Given the description of an element on the screen output the (x, y) to click on. 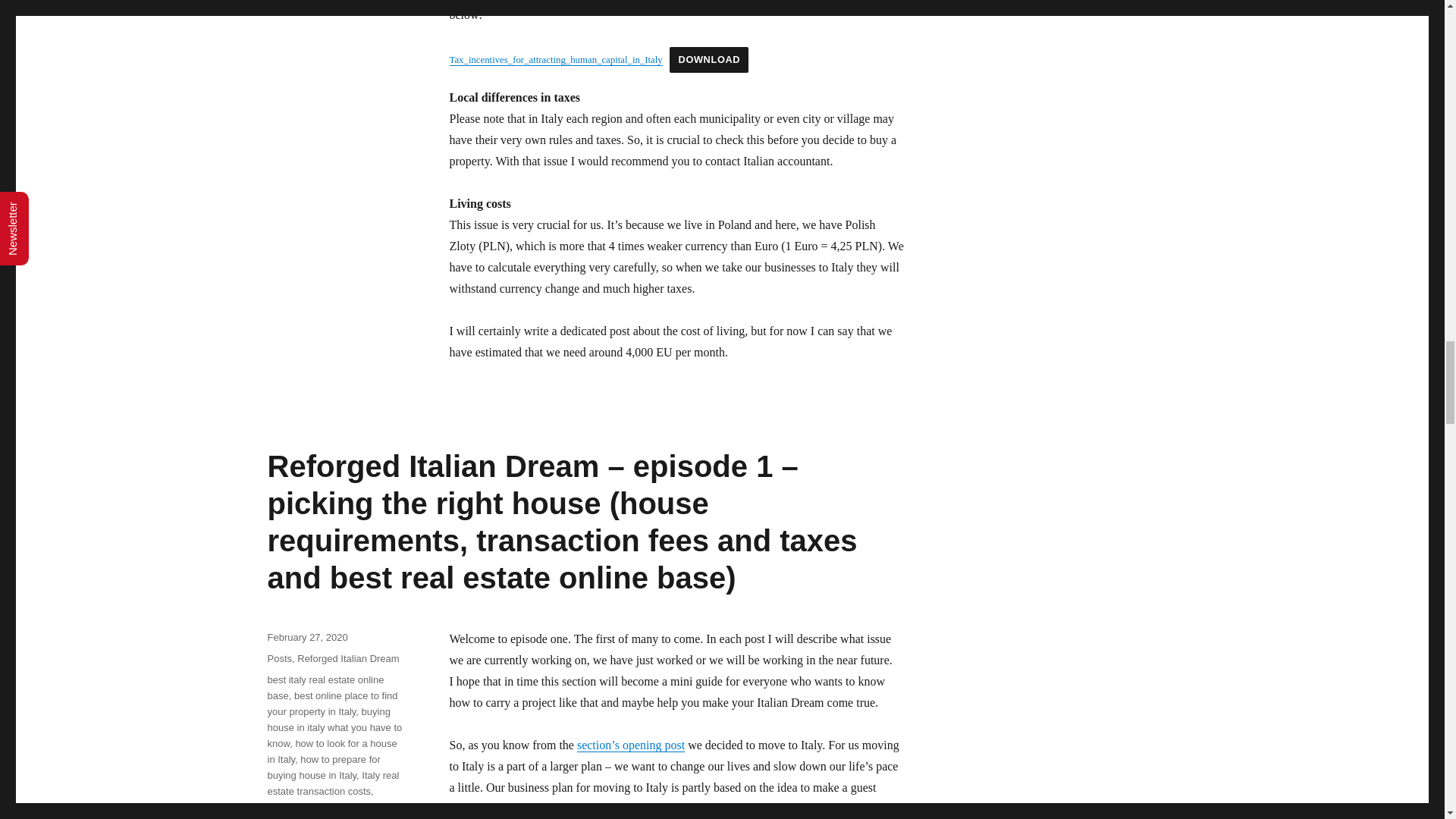
DOWNLOAD (708, 59)
